Given the description of an element on the screen output the (x, y) to click on. 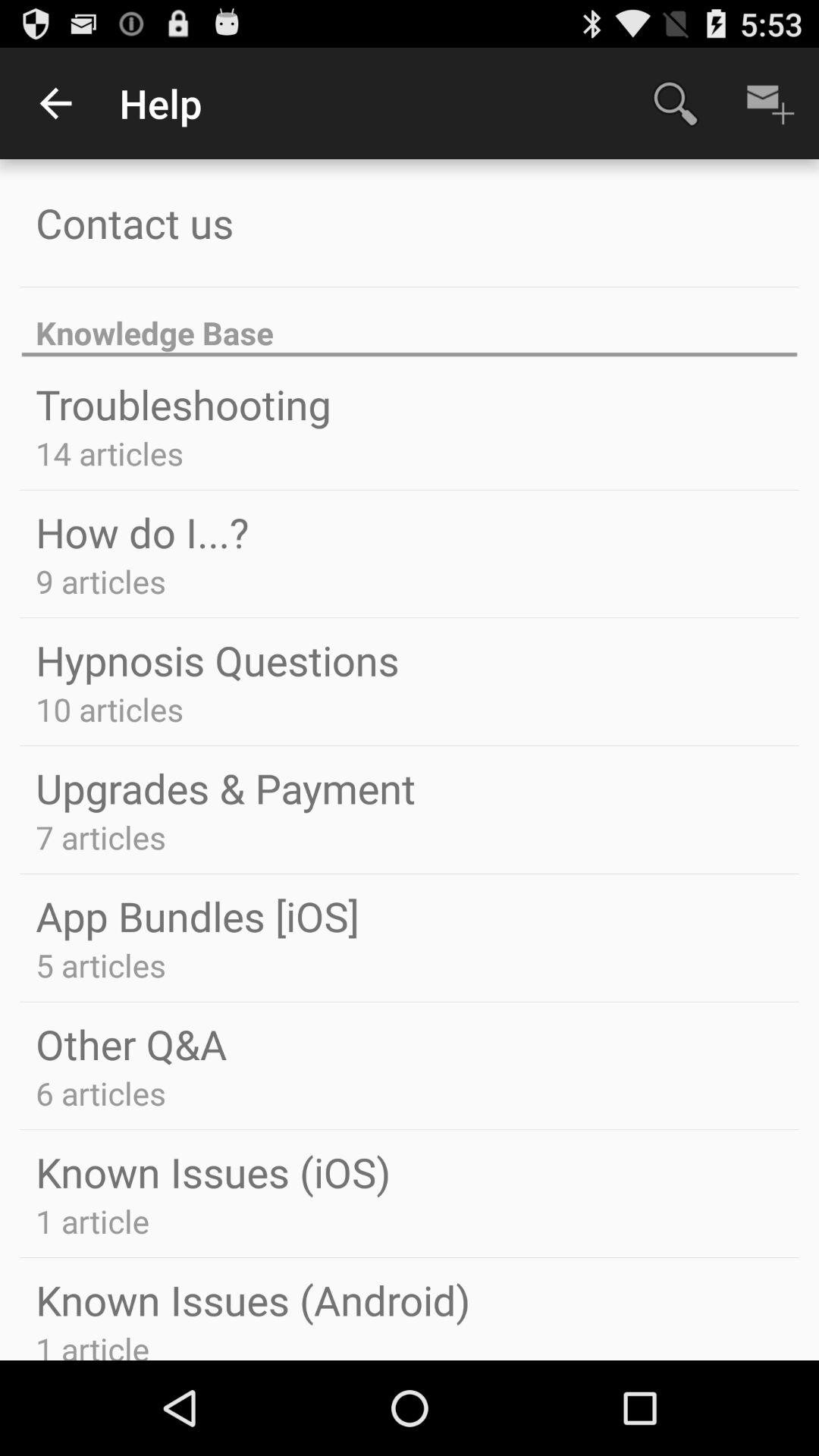
choose item to the right of the help icon (675, 103)
